Given the description of an element on the screen output the (x, y) to click on. 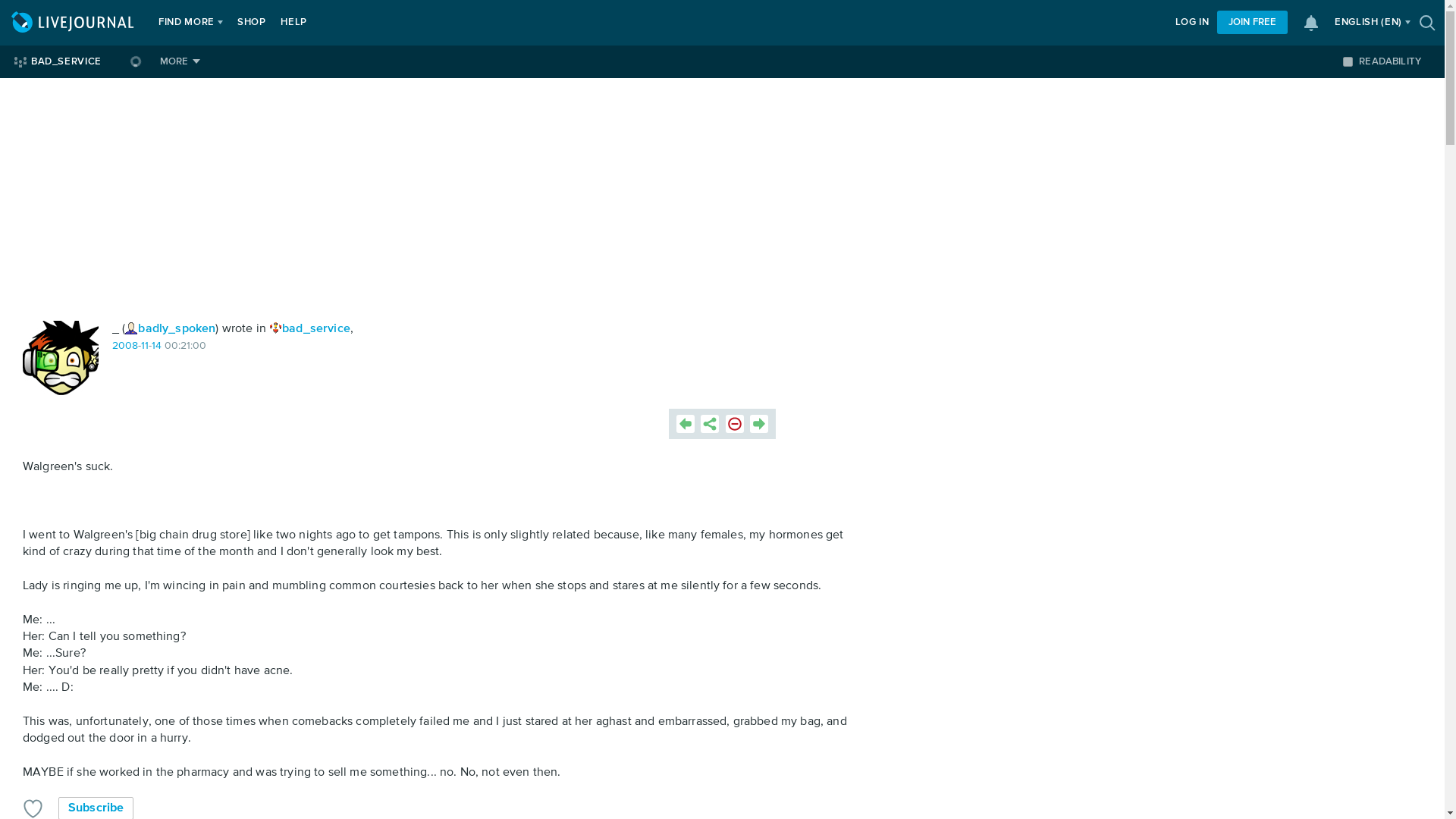
HELP (293, 22)
on (1347, 61)
Share (709, 423)
Previous (685, 423)
JOIN FREE (1252, 22)
LOG IN (1192, 22)
SHOP (251, 22)
MORE (180, 61)
LIVEJOURNAL (73, 22)
FIND MORE (186, 22)
